Given the description of an element on the screen output the (x, y) to click on. 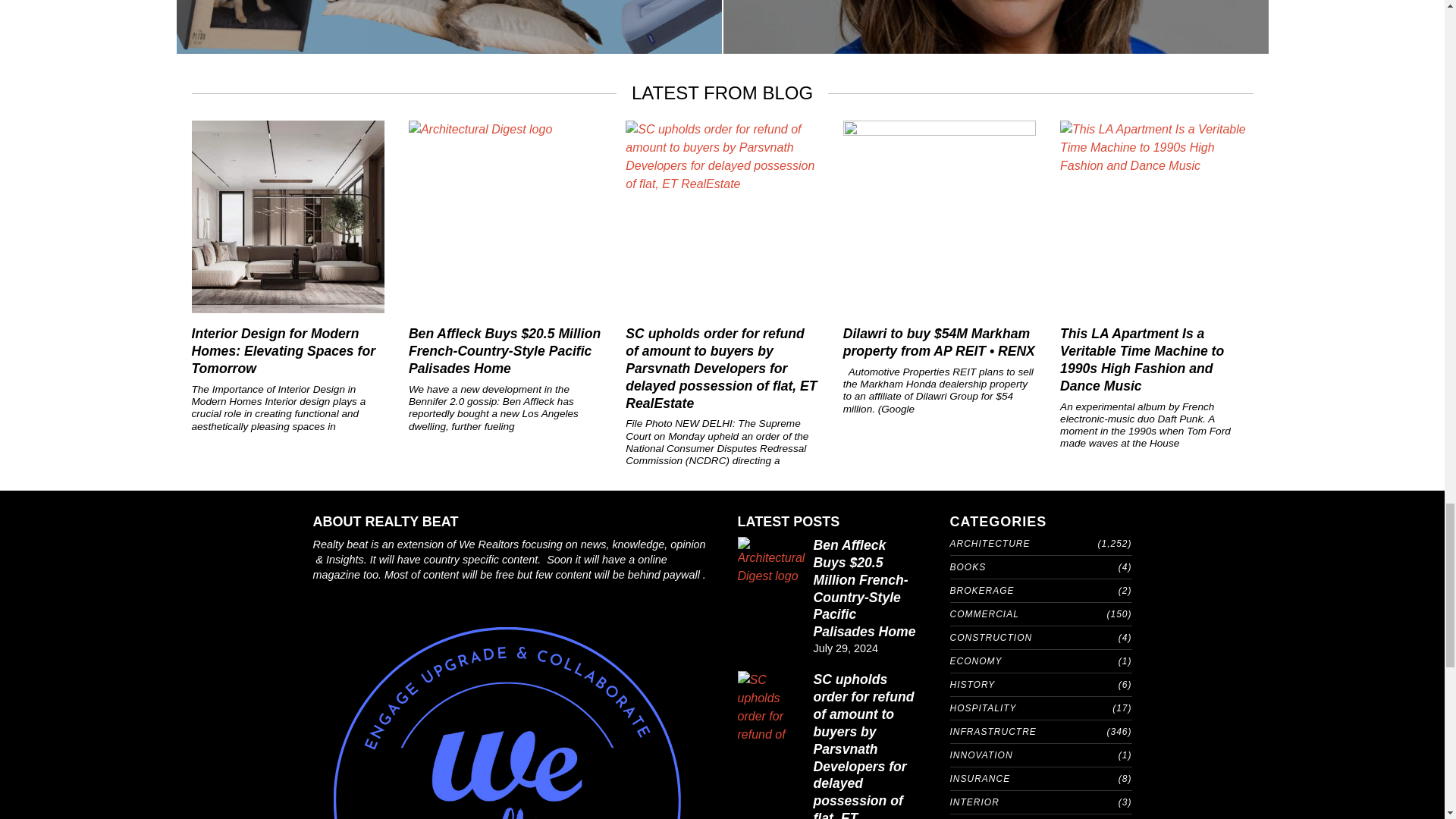
29 Jul, 2024 16:23:39 (844, 648)
The Best Dog Beds for Your Furry Best Friend 7 (448, 27)
